Given the description of an element on the screen output the (x, y) to click on. 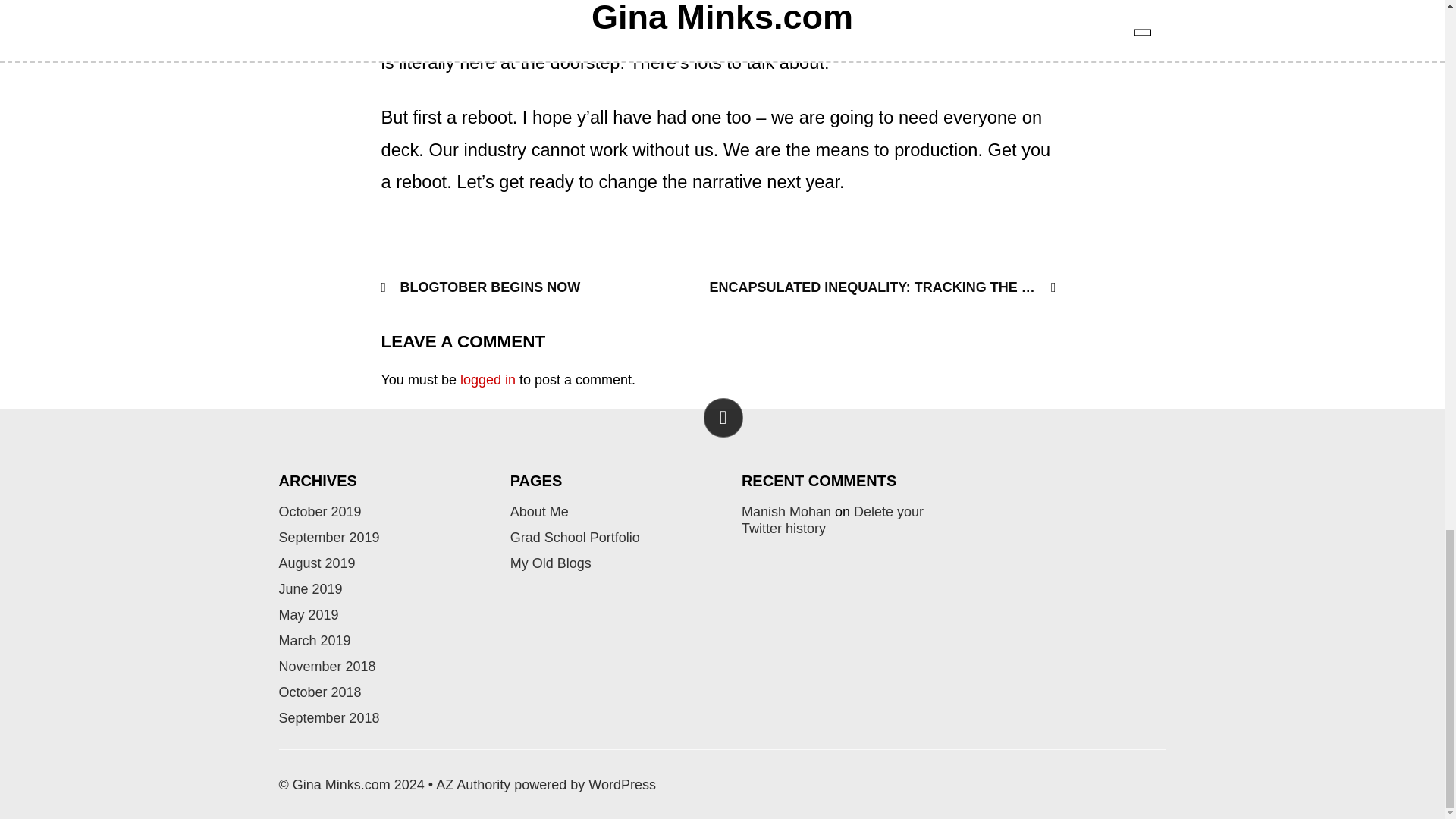
October 2019 (320, 511)
October 2018 (320, 692)
Manish Mohan (786, 511)
May 2019 (309, 614)
Delete your Twitter history (832, 520)
About Me (540, 511)
September 2018 (329, 717)
My Old Blogs (551, 563)
AZ Authority (473, 783)
WordPress (622, 783)
November 2018 (327, 666)
September 2019 (329, 537)
BLOGTOBER BEGINS NOW (485, 287)
logged in (487, 379)
